Given the description of an element on the screen output the (x, y) to click on. 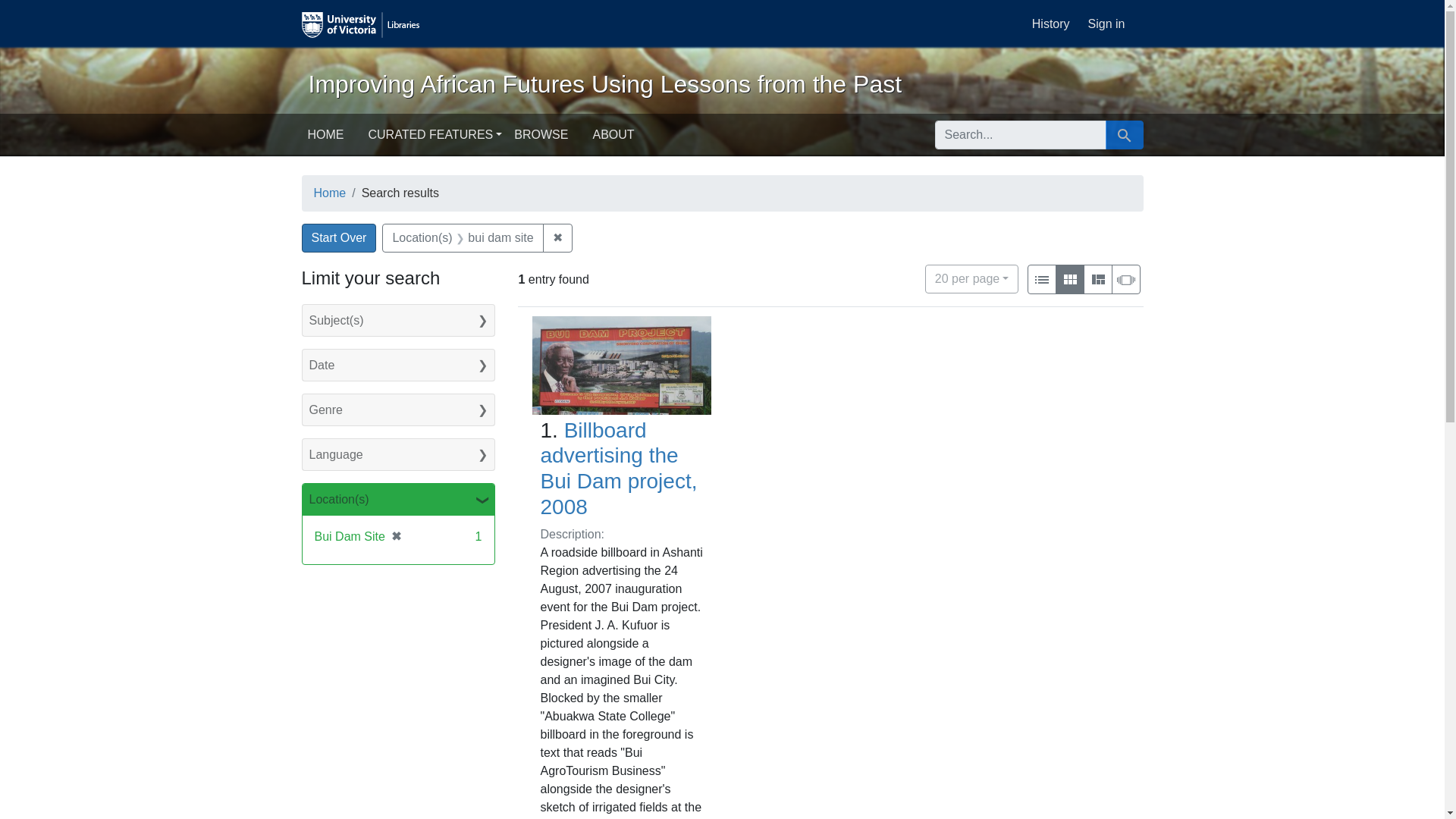
Gallery (1069, 279)
bui dam site (499, 237)
Search (1123, 135)
Home (330, 192)
History (1051, 23)
Slideshow (1126, 279)
Slideshow (1125, 280)
Skip to first result (34, 9)
ABOUT (613, 134)
BROWSE (540, 134)
Masonry (1097, 279)
Date (397, 364)
Masonry (1126, 279)
